Given the description of an element on the screen output the (x, y) to click on. 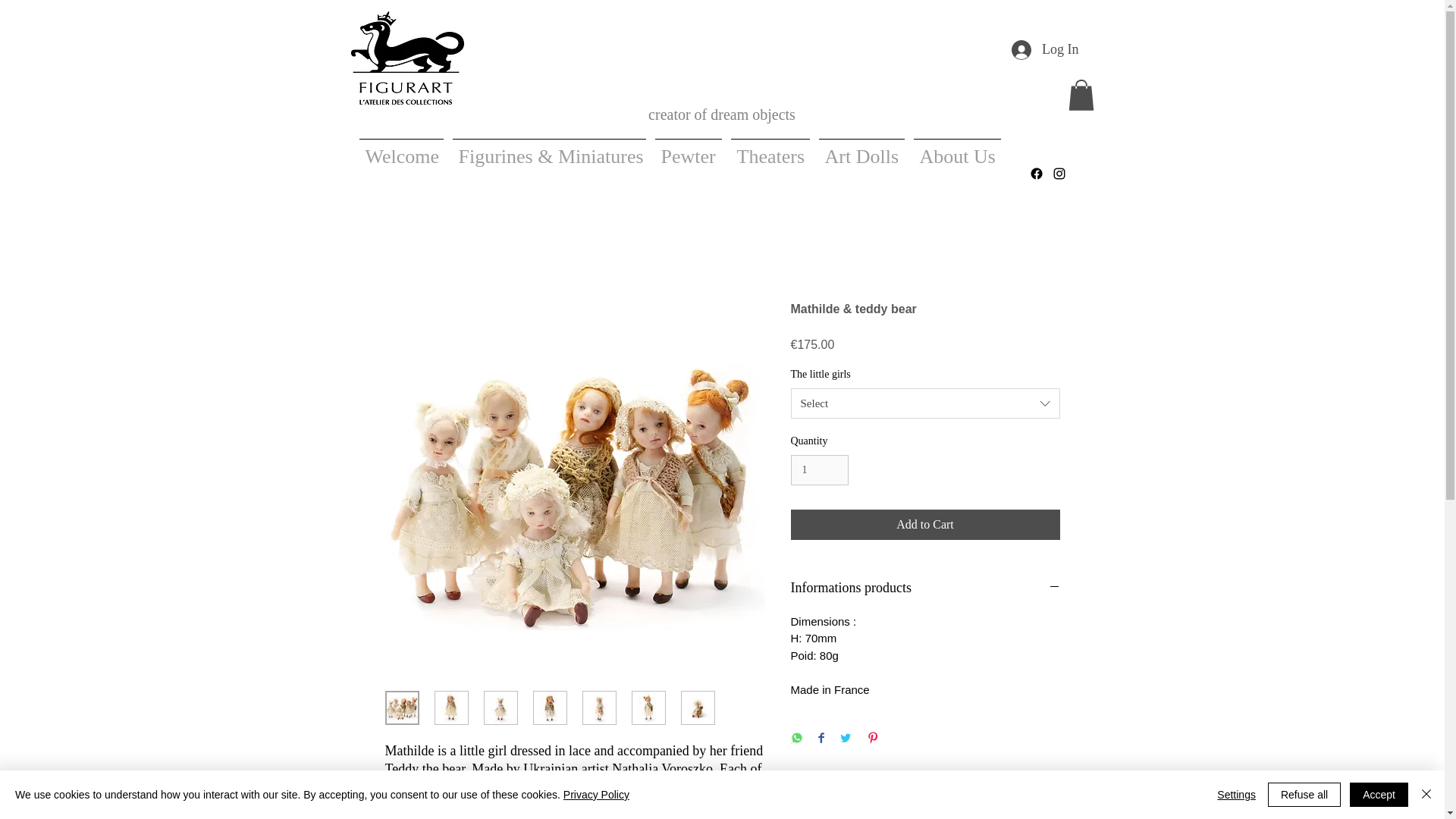
Theaters (769, 149)
About Us (956, 149)
Add to Cart (924, 524)
Log In (1045, 49)
1 (818, 470)
Welcome (401, 149)
Art Dolls (860, 149)
Informations products (924, 588)
Select (924, 403)
Pewter (688, 149)
